Given the description of an element on the screen output the (x, y) to click on. 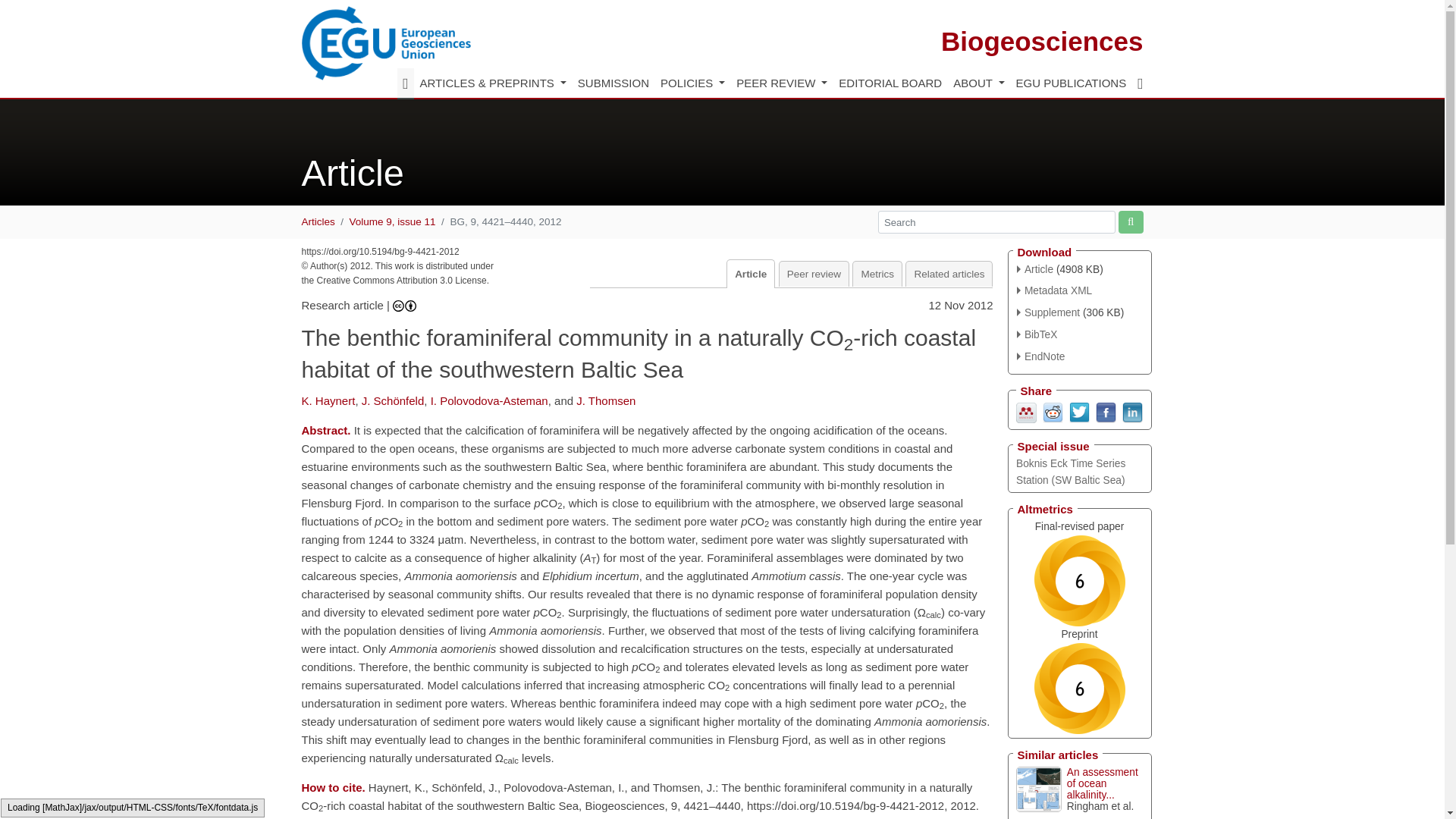
Mendeley (1026, 410)
SUBMISSION (612, 83)
Twitter (1078, 410)
XML Version (1054, 290)
PEER REVIEW (781, 83)
Biogeosciences (1041, 41)
POLICIES (691, 83)
Start site search (1130, 221)
Reddit (1052, 410)
